Given the description of an element on the screen output the (x, y) to click on. 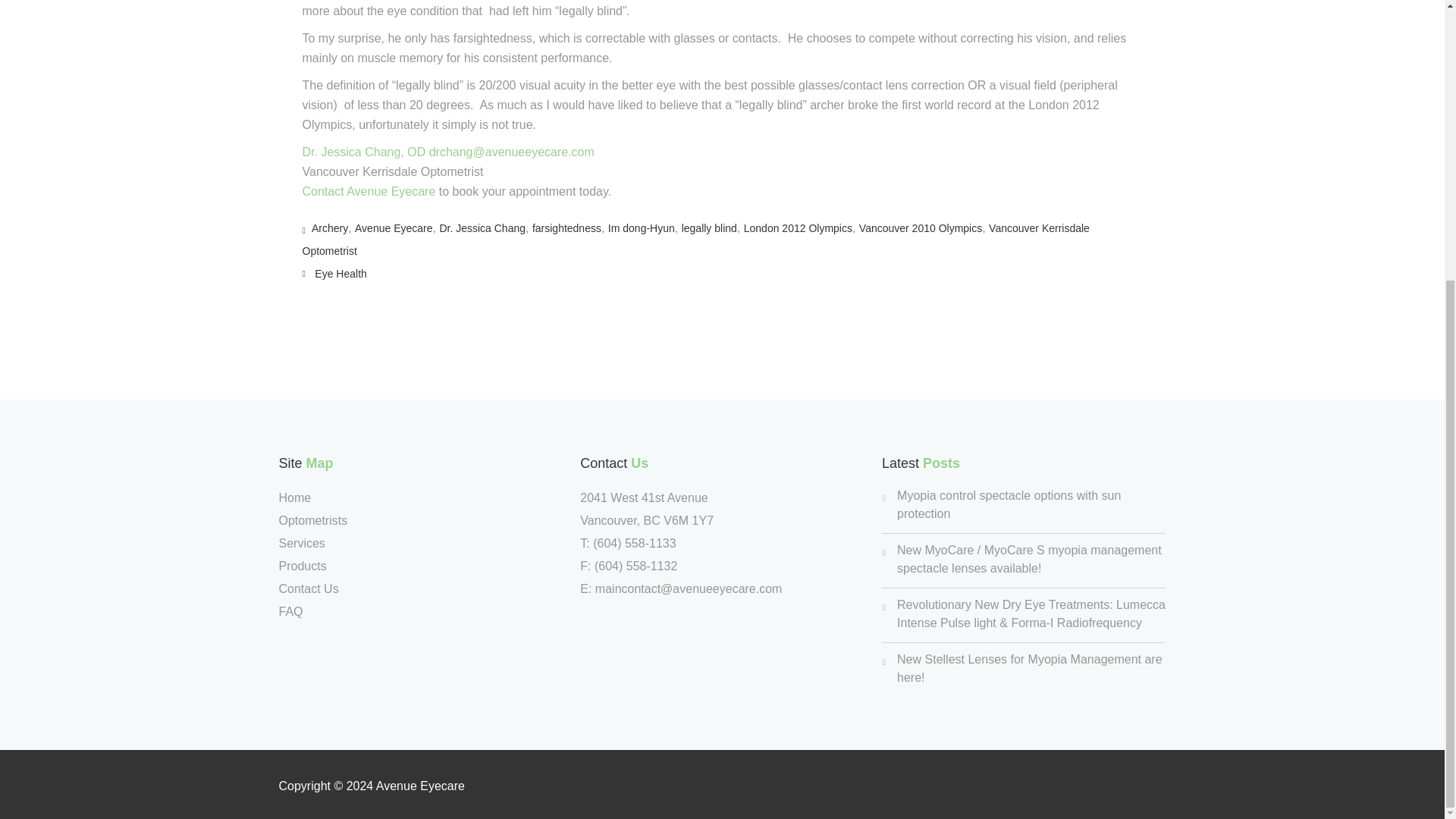
about Dr. Jessica Chang (363, 151)
email Dr. Chang (511, 151)
Contact Avenue Eyecare (368, 191)
Archery (329, 227)
Dr. Jessica Chang, OD (363, 151)
contact us (368, 191)
Avenue Eyecare (393, 227)
